Given the description of an element on the screen output the (x, y) to click on. 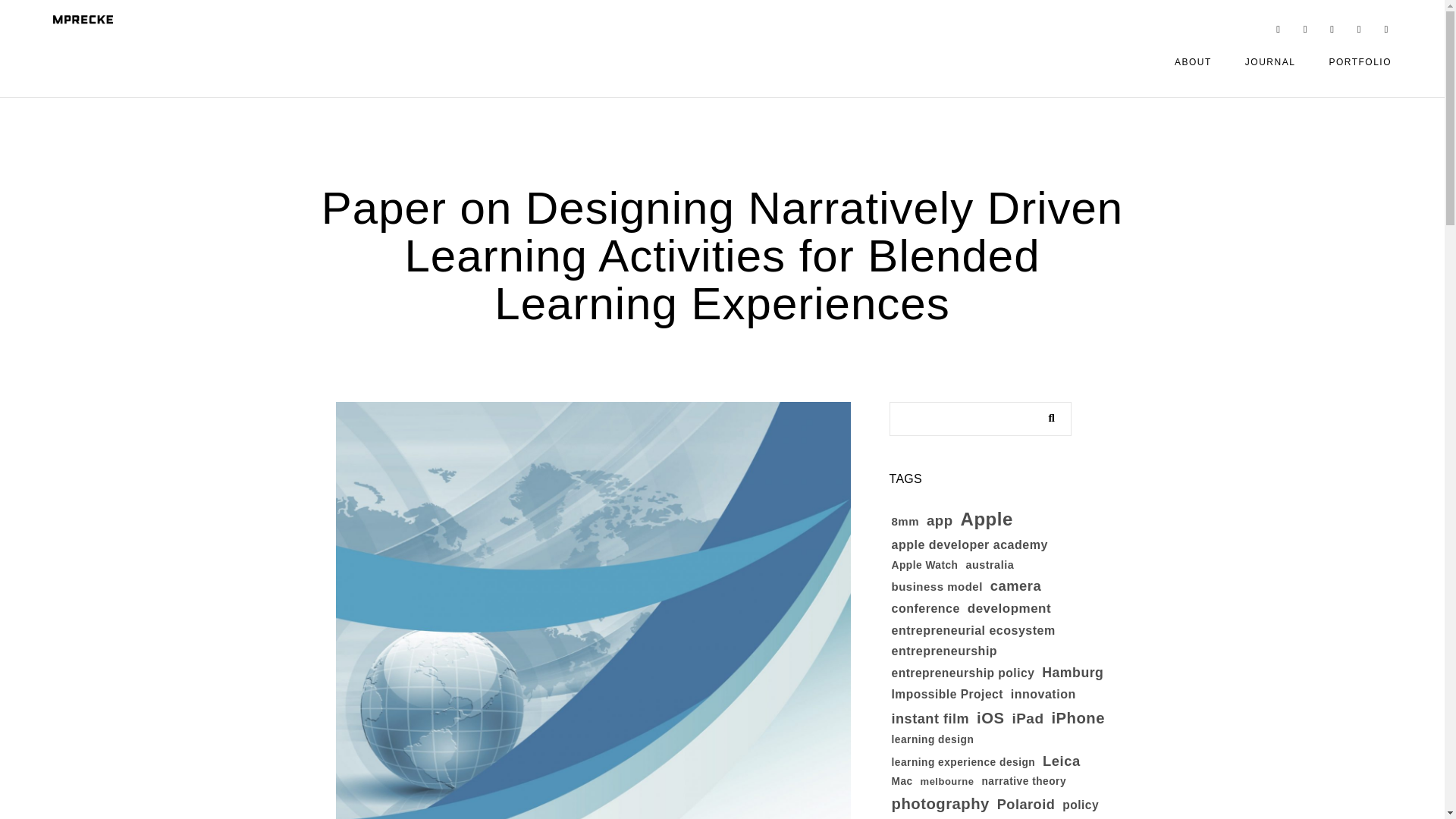
Search (1047, 414)
